Given the description of an element on the screen output the (x, y) to click on. 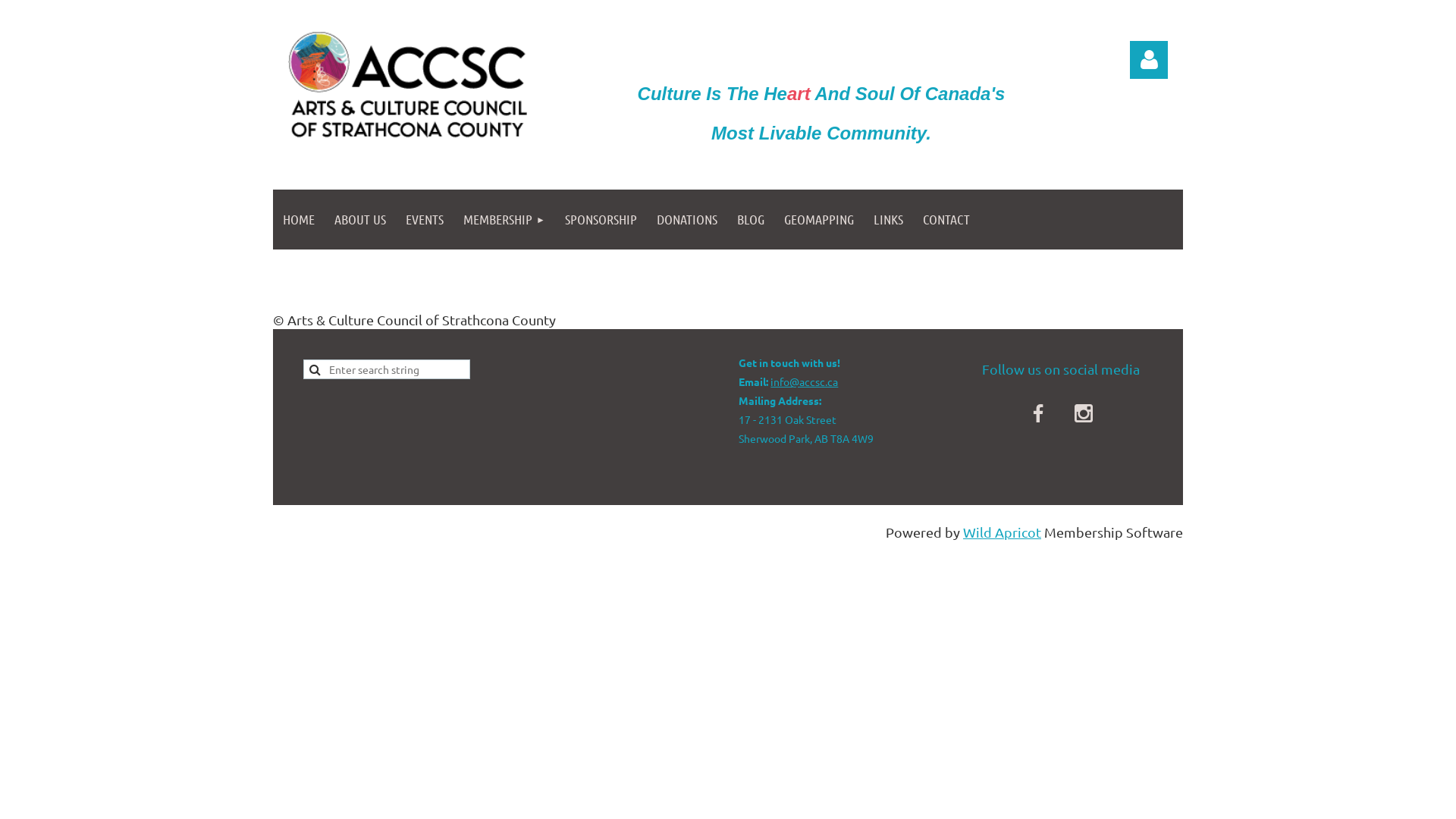
ABOUT US Element type: text (359, 219)
info@accsc.ca Element type: text (803, 381)
SPONSORSHIP Element type: text (600, 219)
CONTACT Element type: text (946, 219)
EVENTS Element type: text (424, 219)
Wild Apricot Element type: text (1002, 531)
MEMBERSHIP Element type: text (504, 219)
LINKS Element type: text (888, 219)
Log in Element type: text (1148, 59)
HOME Element type: text (298, 219)
Instagram Element type: hover (1083, 413)
GEOMAPPING Element type: text (818, 219)
Facebook Element type: hover (1038, 413)
DONATIONS Element type: text (686, 219)
BLOG Element type: text (750, 219)
